Given the description of an element on the screen output the (x, y) to click on. 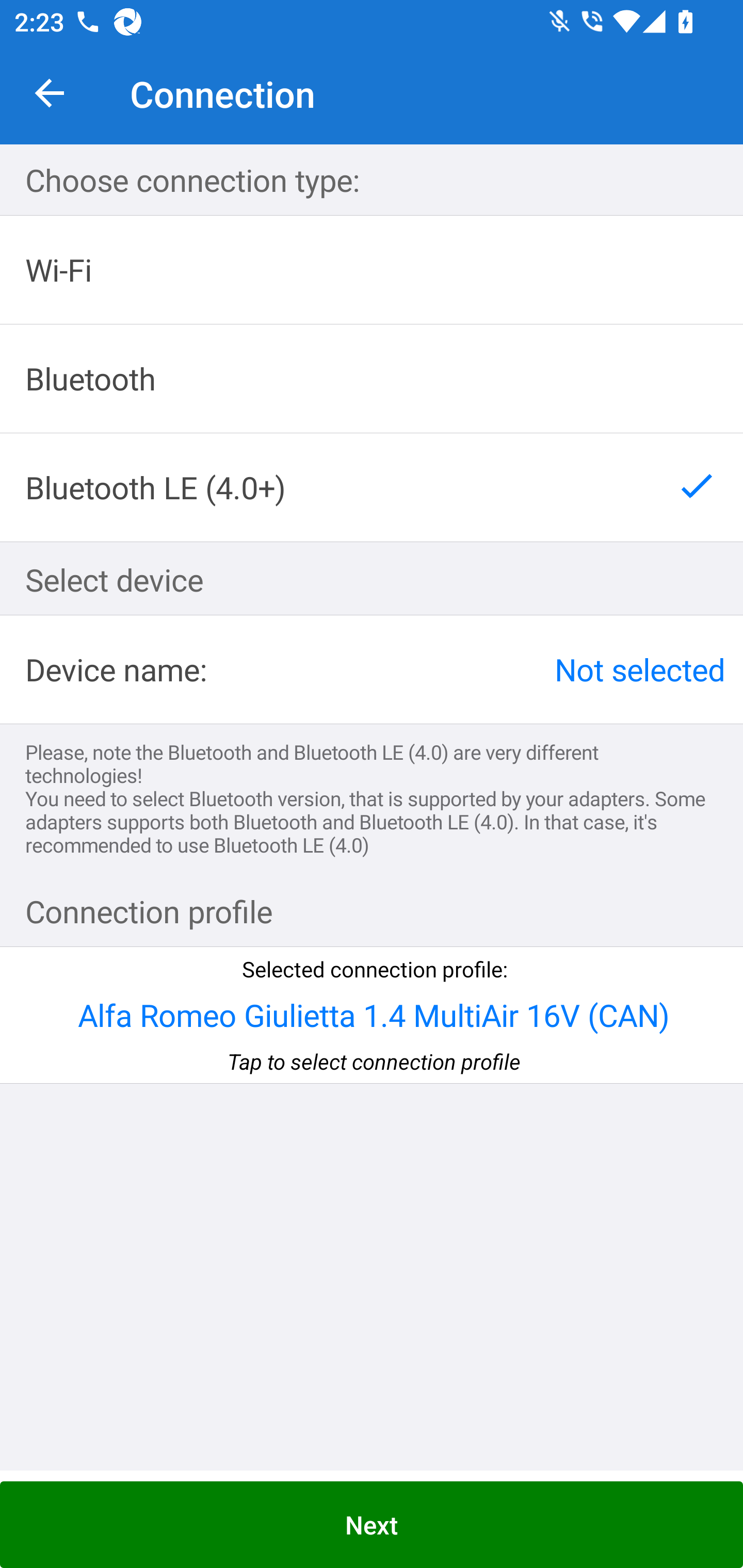
Wi-Fi (371, 270)
Bluetooth (371, 378)
Bluetooth LE (4.0+) (371, 486)
Device name: Not selected (371, 669)
Next (371, 1524)
